Given the description of an element on the screen output the (x, y) to click on. 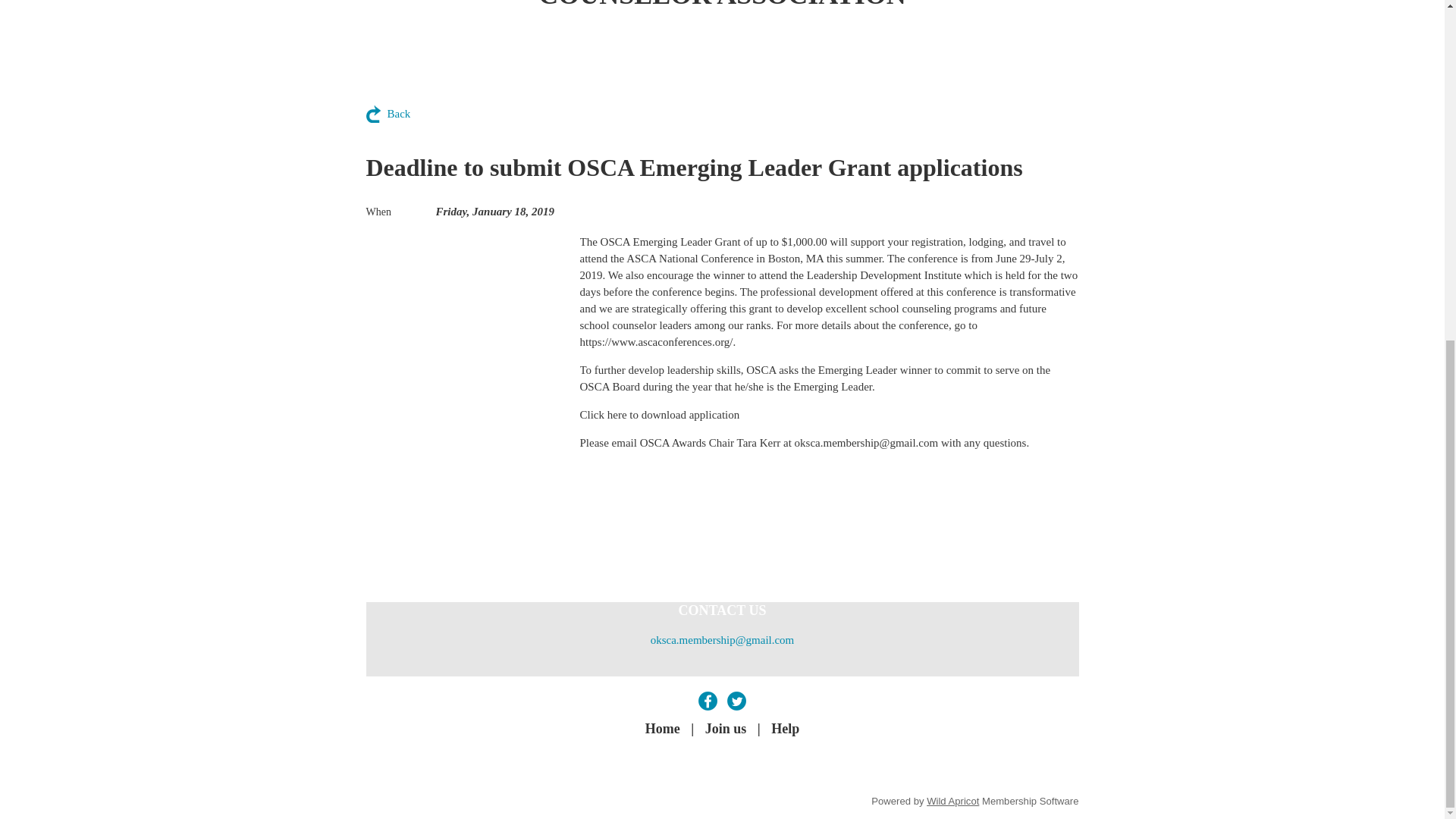
Home (662, 729)
Join us (725, 729)
Back (387, 113)
Wild Apricot (952, 800)
Help (785, 729)
